Given the description of an element on the screen output the (x, y) to click on. 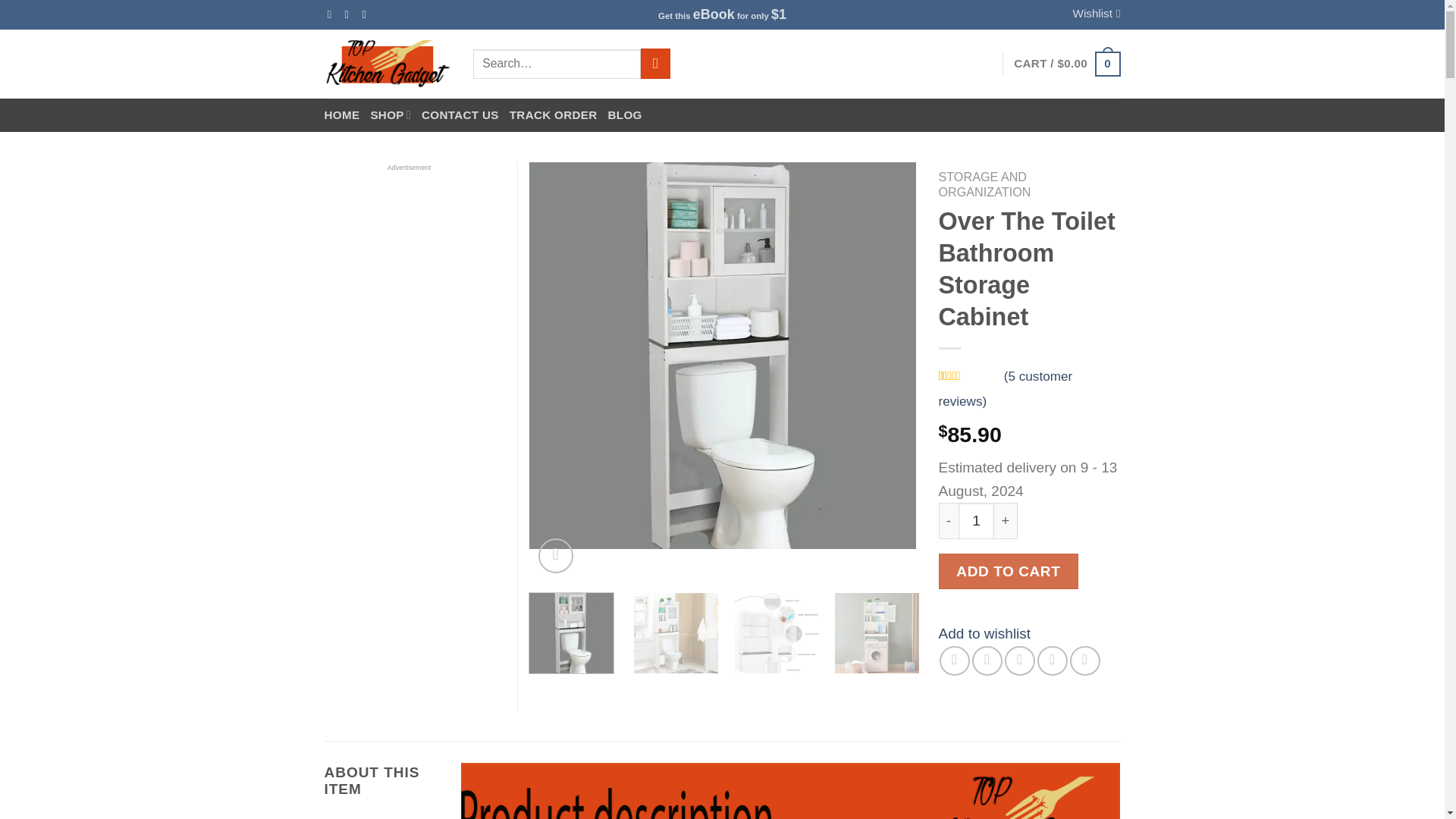
1 (976, 520)
Follow on Facebook (332, 14)
Follow on Instagram (350, 14)
HOME (341, 114)
Follow on Pinterest (366, 14)
BLOG (625, 114)
SHOP (389, 114)
TRACK ORDER (552, 114)
- (948, 520)
Search (654, 63)
Cart (1066, 63)
Wishlist (1097, 13)
CONTACT US (460, 114)
